Given the description of an element on the screen output the (x, y) to click on. 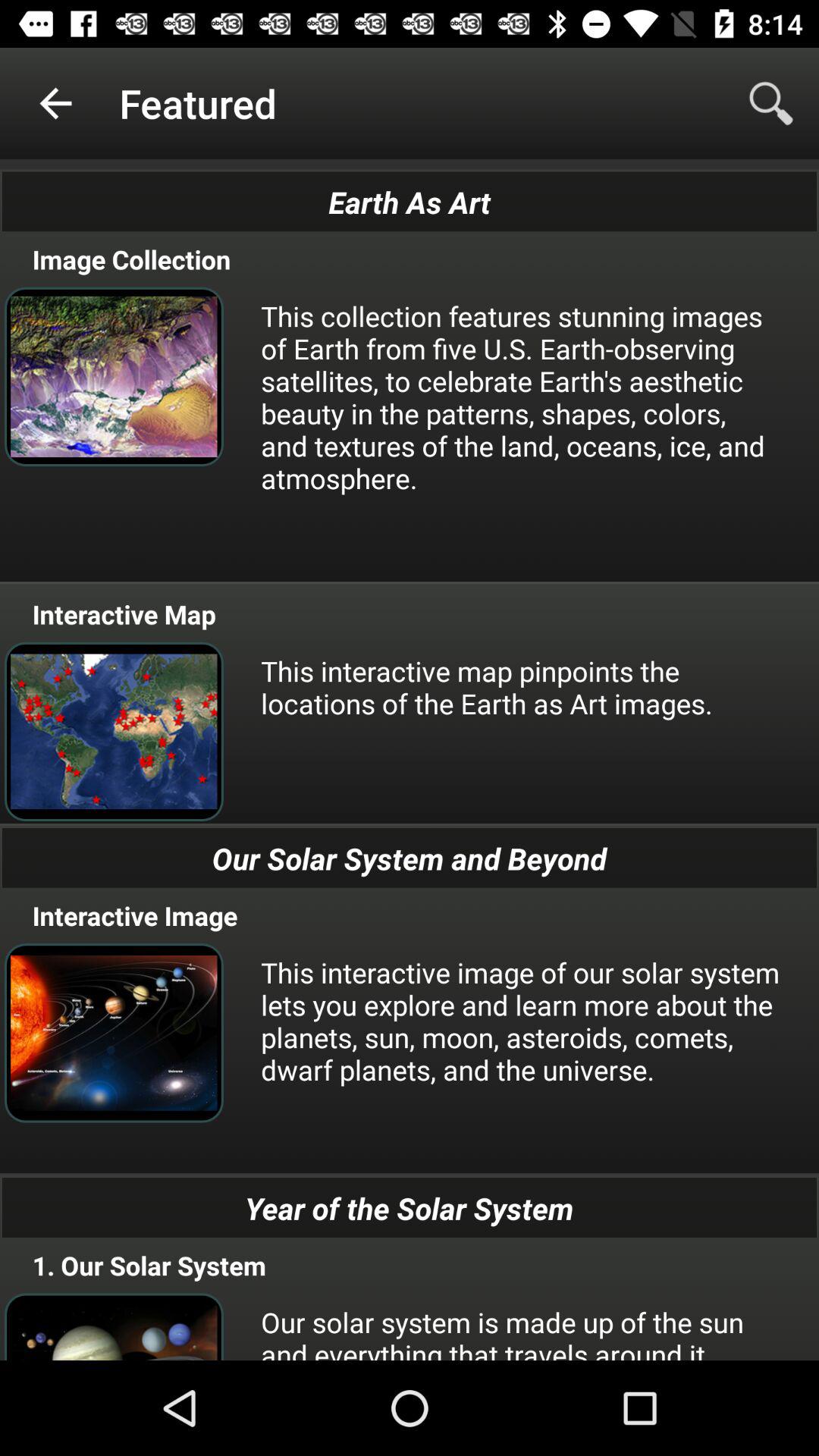
click on the image which is below the image collection (113, 377)
select the image below the text called interactive image (113, 1033)
